Given the description of an element on the screen output the (x, y) to click on. 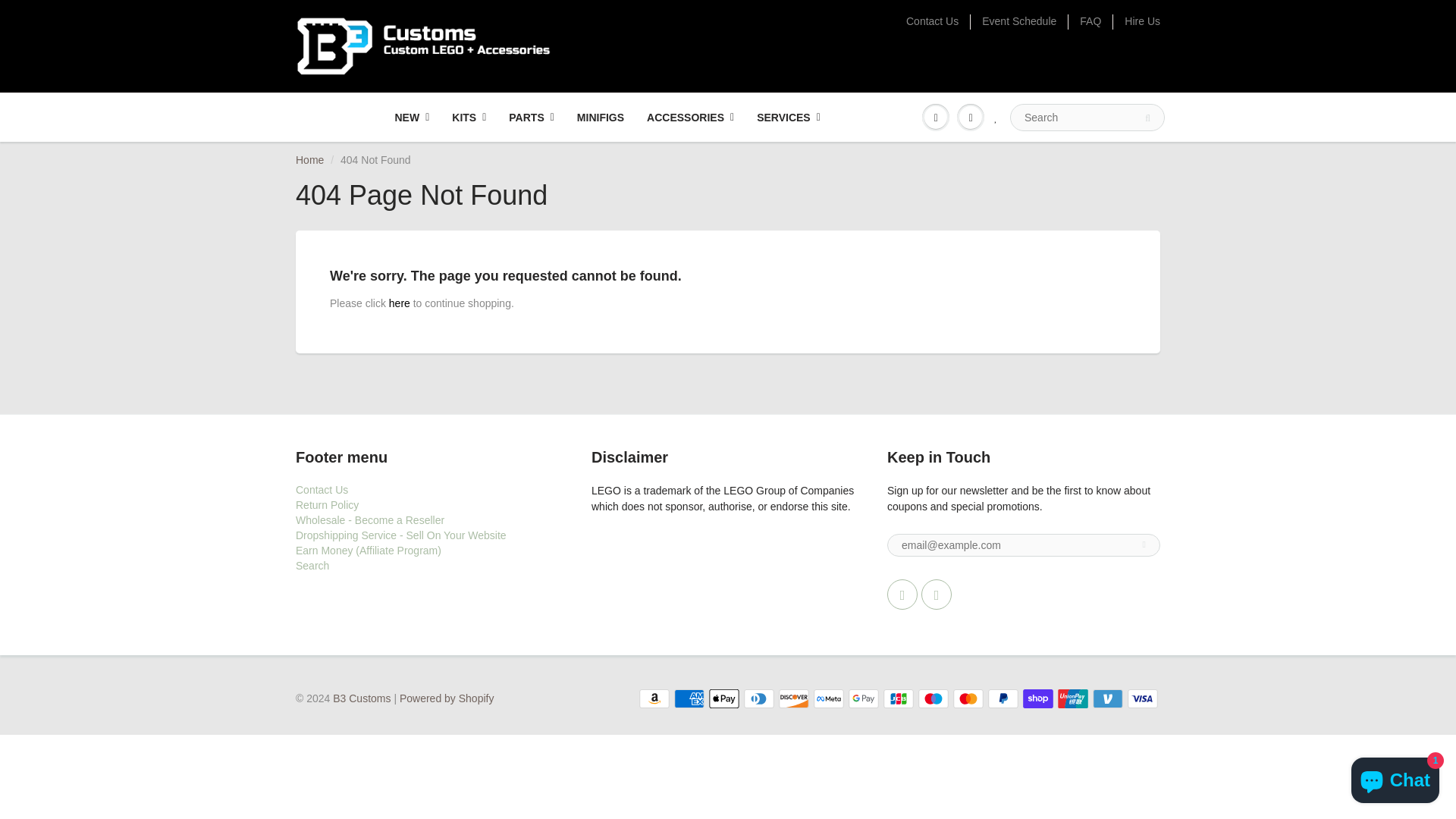
Facebook (901, 594)
JCB (898, 698)
Discover (793, 698)
Meta Pay (828, 698)
MINIFIGS (600, 117)
Hire Us (1142, 21)
Maestro (933, 698)
Contact Us (931, 21)
NEW (412, 117)
Mastercard (968, 698)
Google Pay (863, 698)
Apple Pay (724, 698)
Home (309, 159)
American Express (689, 698)
Visa (1141, 698)
